Given the description of an element on the screen output the (x, y) to click on. 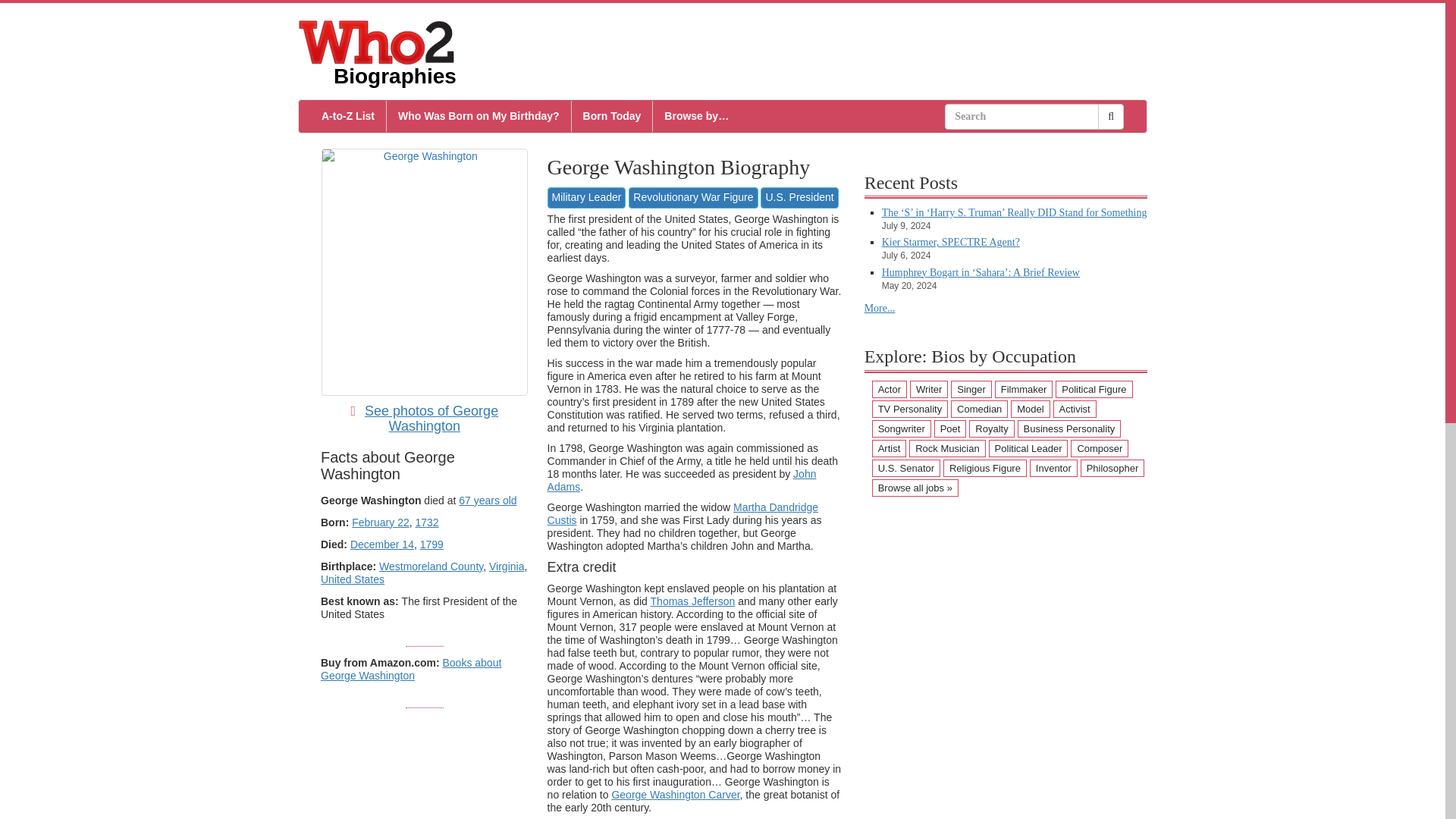
1799 (432, 544)
Thomas Jefferson (692, 601)
Books about George Washington (410, 668)
Revolutionary War Figure (692, 197)
Virginia (506, 566)
U.S. President (799, 196)
Revolutionary War Figure (692, 196)
Born Today (612, 115)
United States (352, 579)
U.S. President (799, 197)
67 years old (487, 500)
Military Leader (586, 197)
February 22 (380, 522)
Who Was Born on My Birthday? (478, 115)
1732 (426, 522)
